Given the description of an element on the screen output the (x, y) to click on. 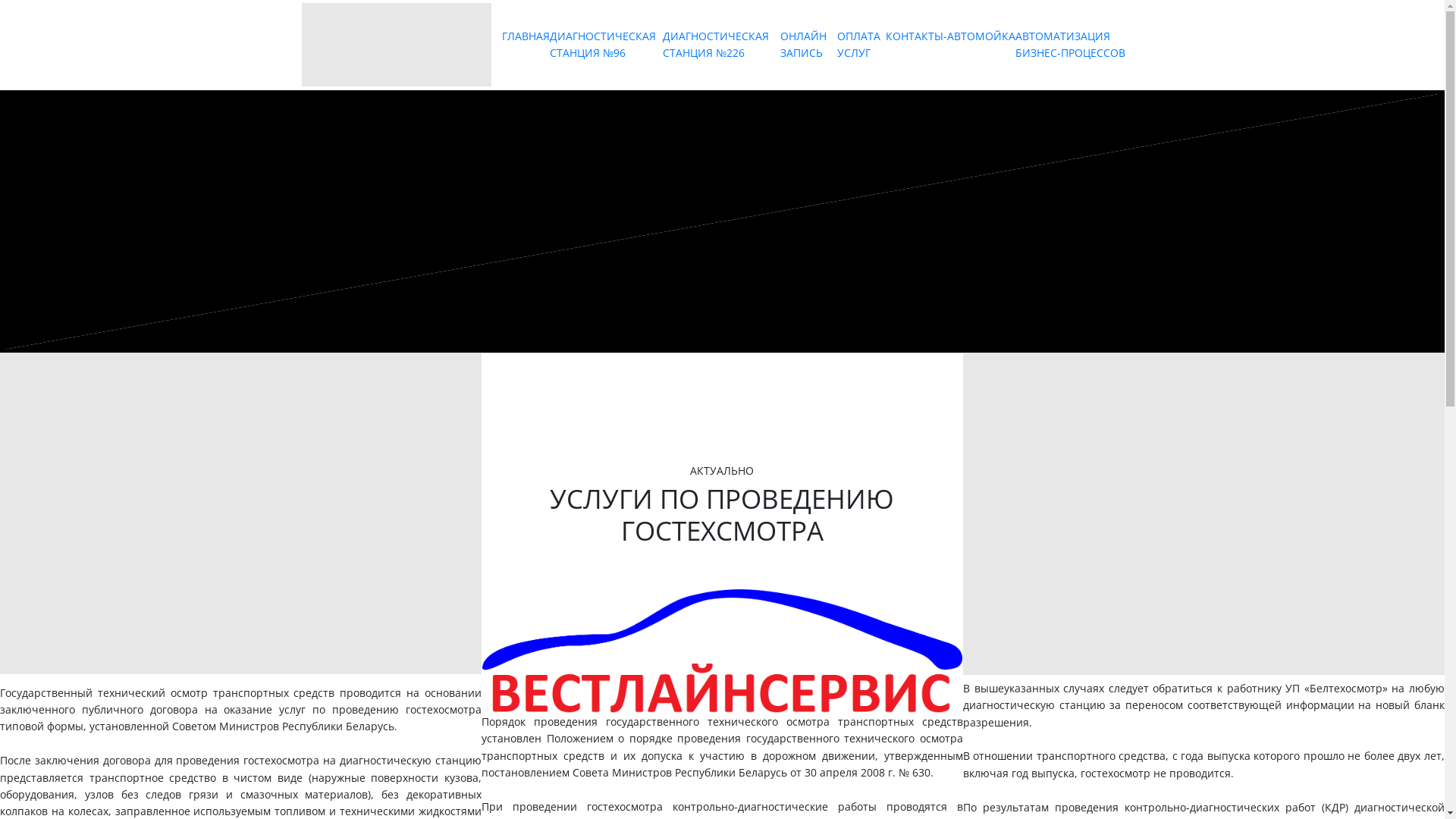
- Element type: text (945, 36)
